Given the description of an element on the screen output the (x, y) to click on. 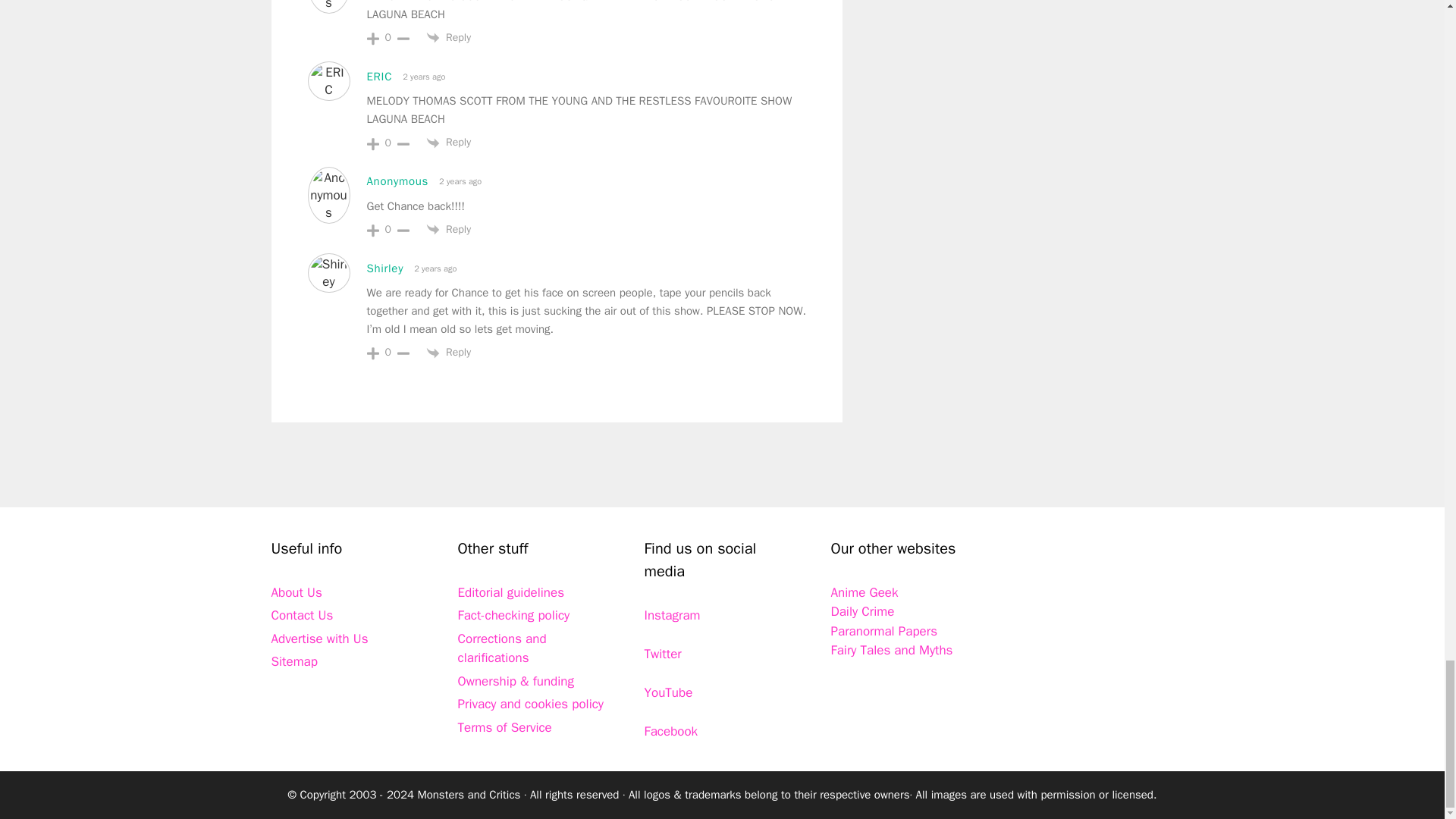
About Us (295, 592)
0 (387, 142)
Corrections and clarifications (502, 648)
0 (387, 38)
Contact Us (301, 615)
Terms of Service (504, 727)
7th September 2021 3:12 pm EDT (433, 268)
6th September 2021 10:24 am EDT (458, 181)
Fact-checking policy (514, 615)
Advertise with Us (319, 638)
